Given the description of an element on the screen output the (x, y) to click on. 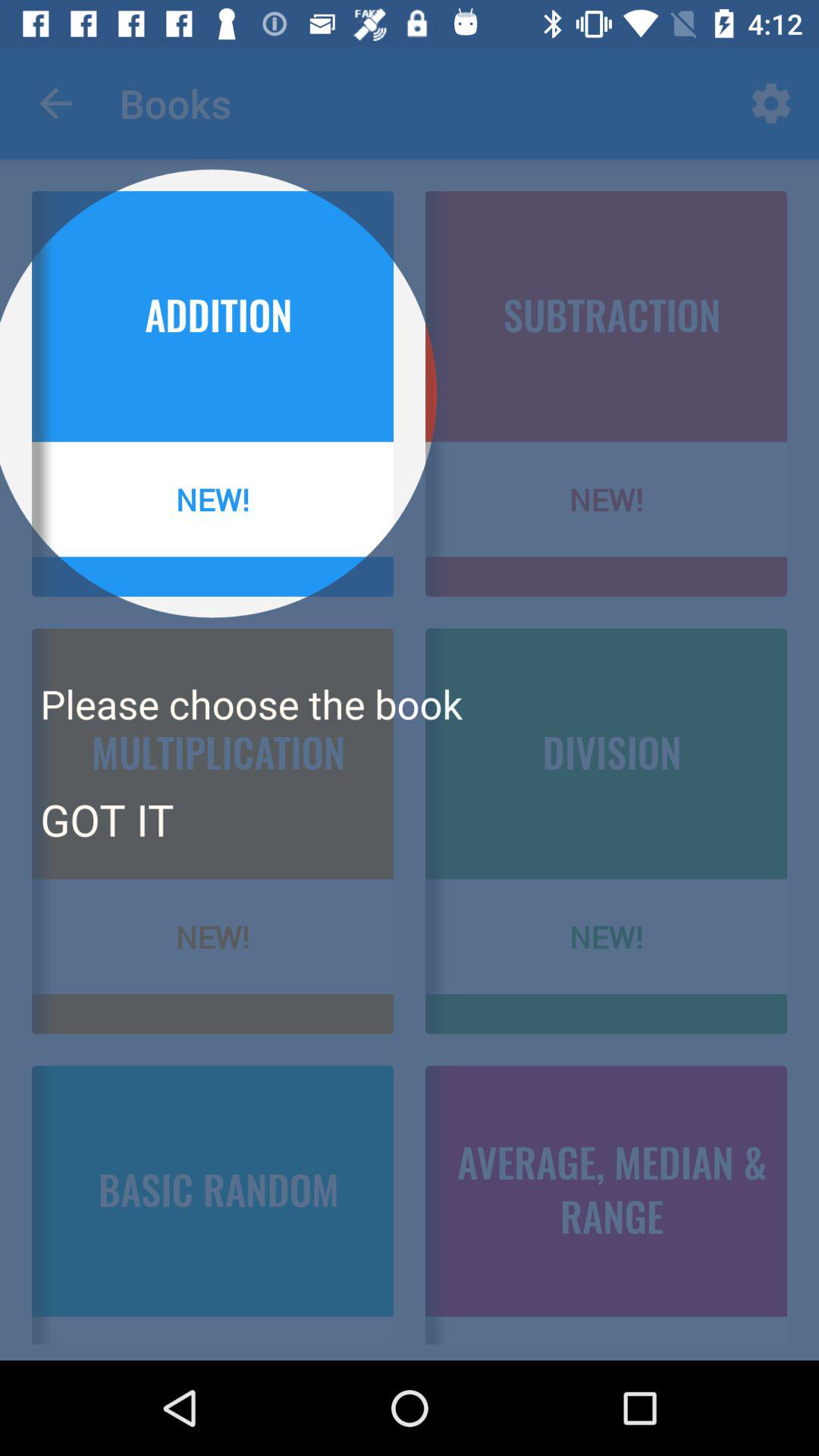
choose icon above new! item (107, 819)
